Given the description of an element on the screen output the (x, y) to click on. 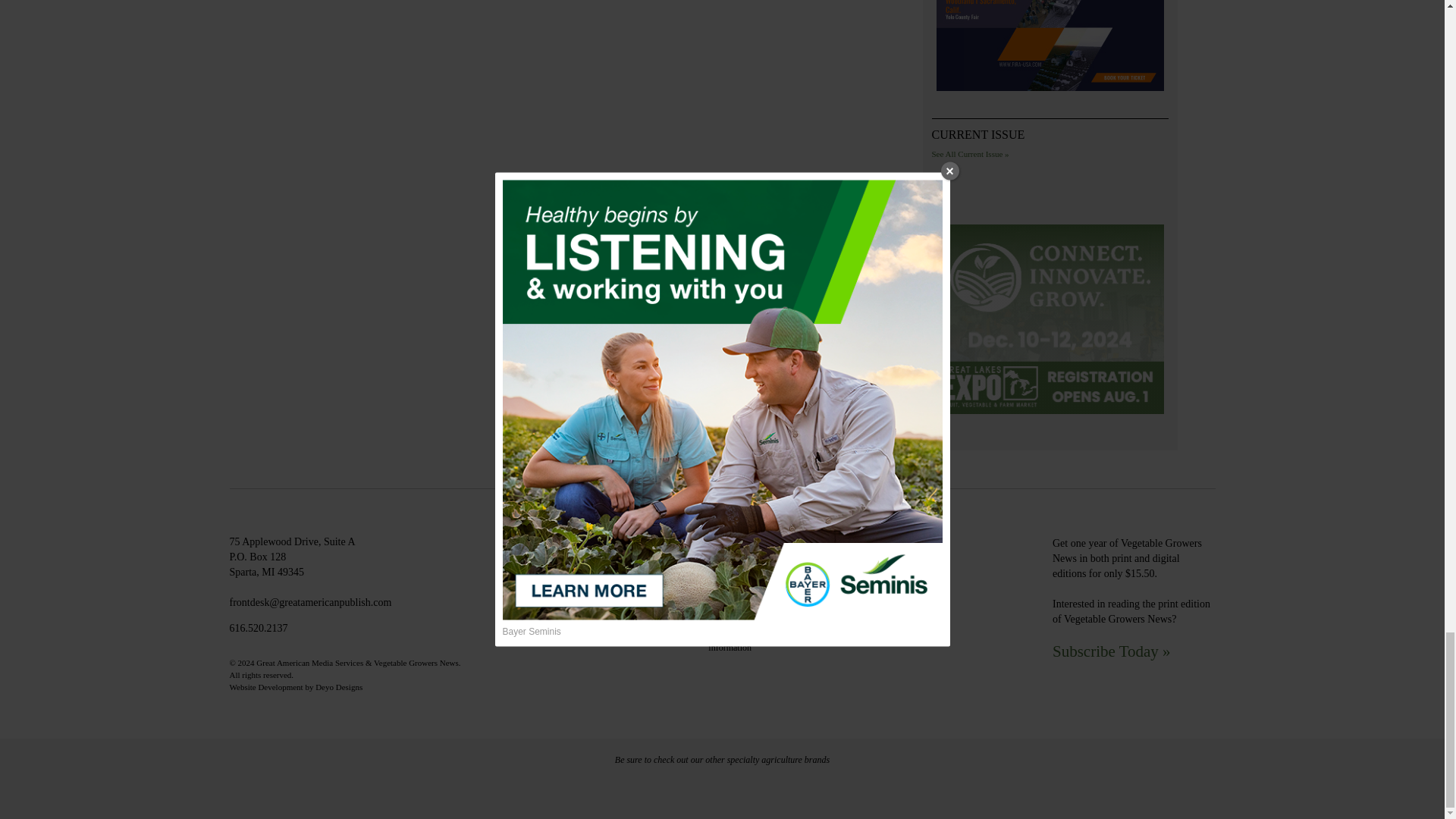
FIRA 2024 (1049, 47)
Great Lakes EXPO (1049, 321)
